Given the description of an element on the screen output the (x, y) to click on. 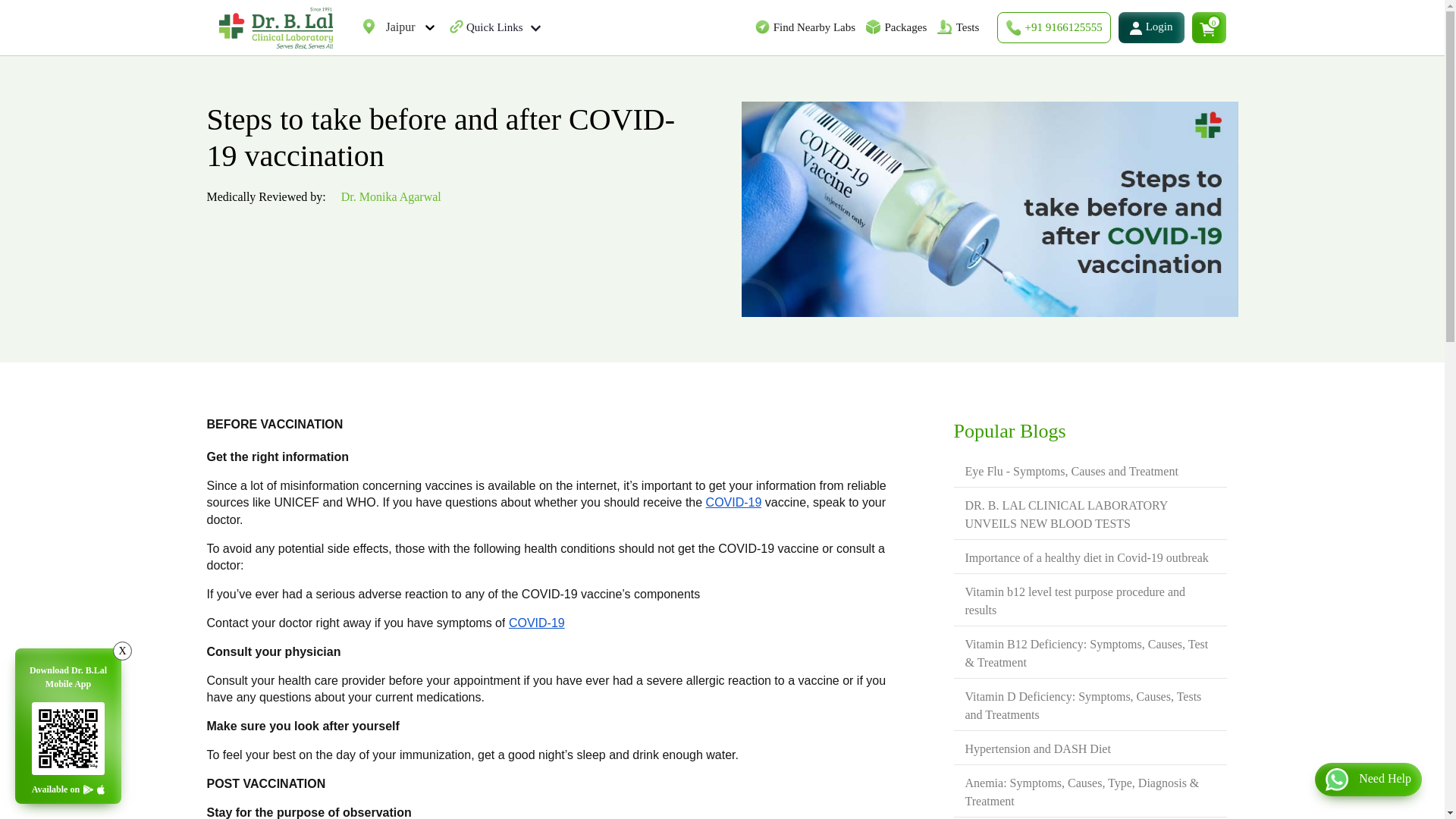
Tests (966, 26)
Packages (904, 26)
0 (1208, 27)
Find Nearby Labs (814, 26)
Quick Links (502, 26)
Login (1151, 27)
